Given the description of an element on the screen output the (x, y) to click on. 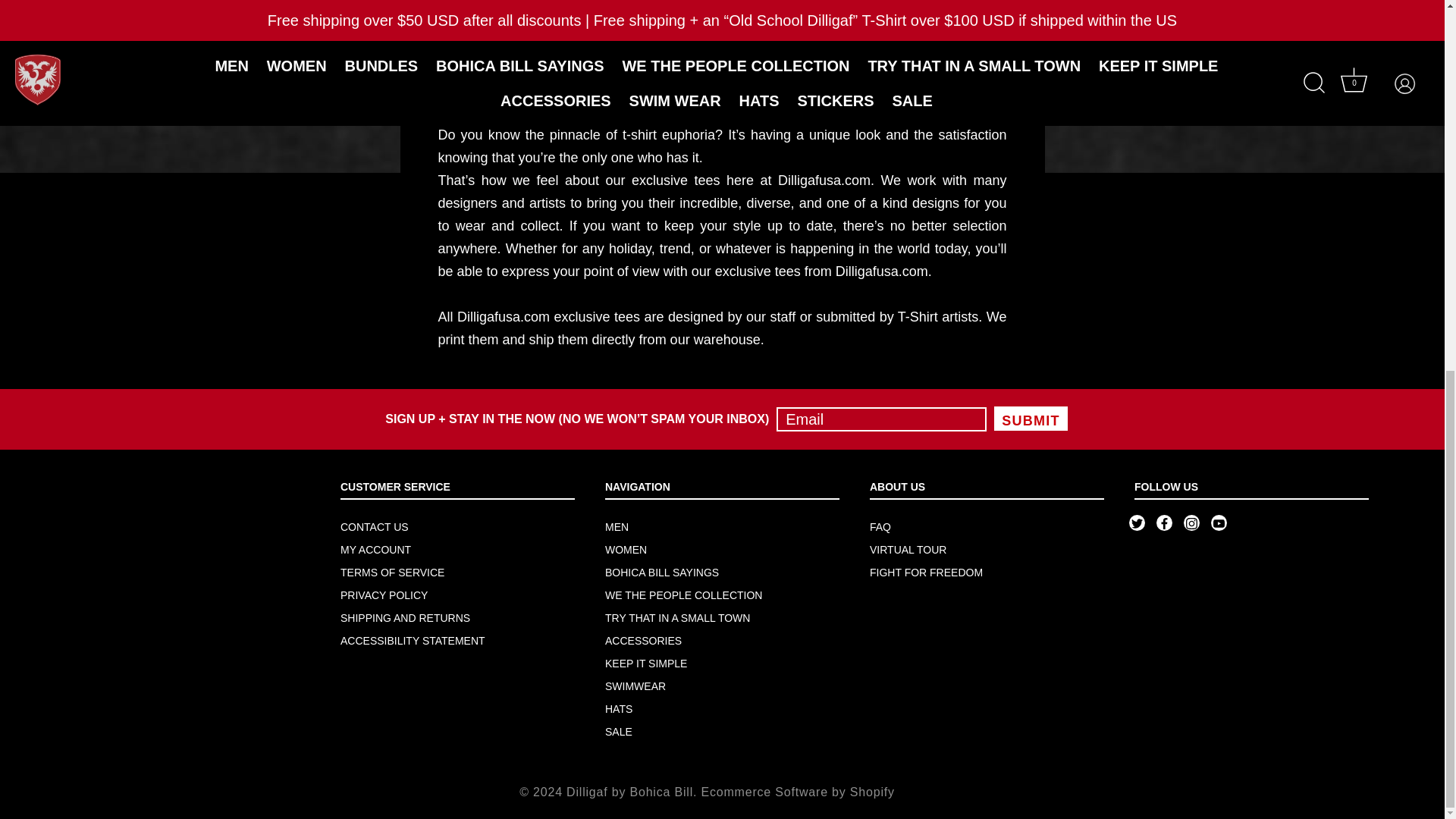
Twitter (1136, 523)
Youtube (1218, 523)
Instagram (1191, 523)
